Given the description of an element on the screen output the (x, y) to click on. 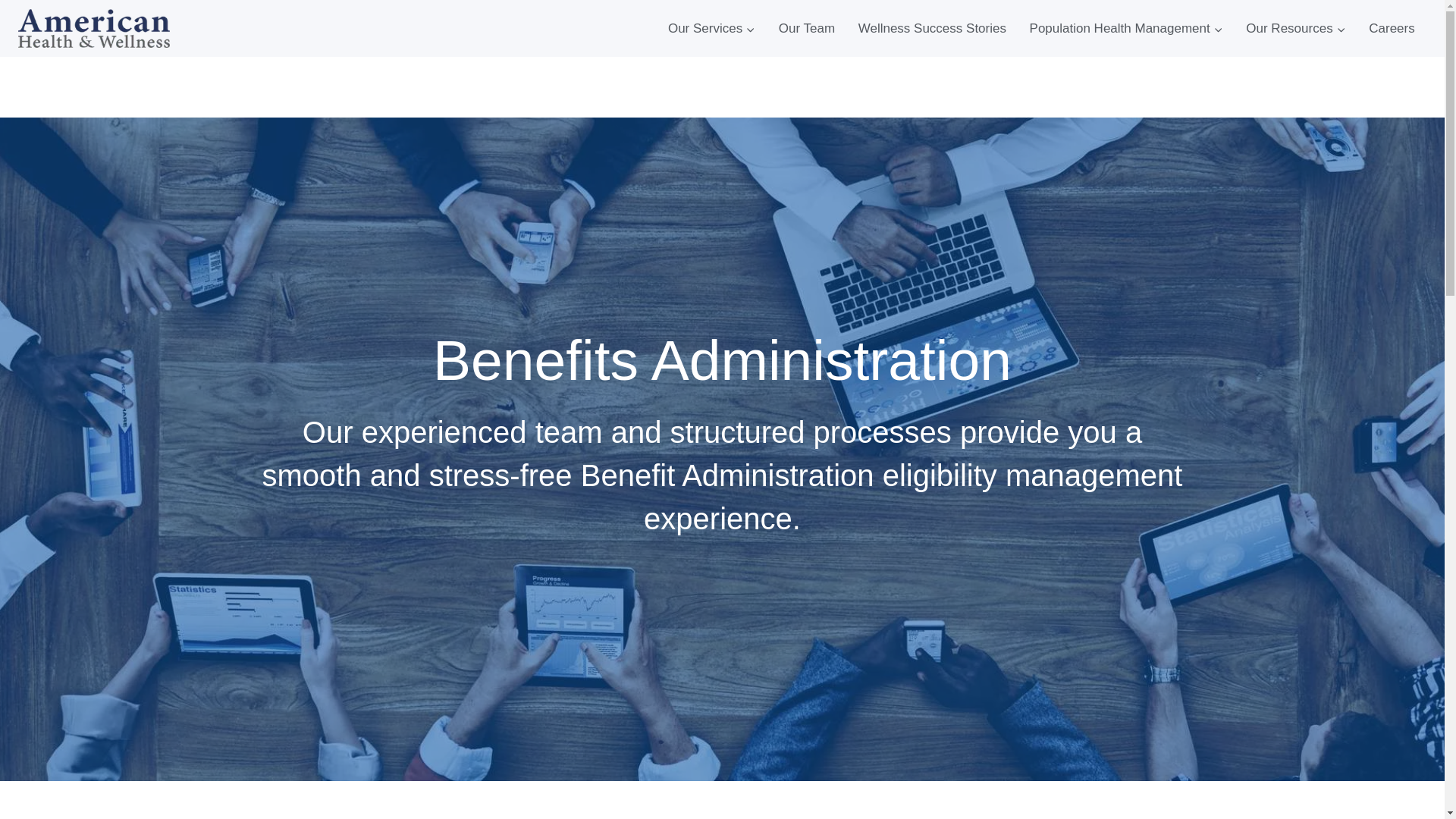
Our Resources (1295, 28)
Population Health Management (1125, 28)
Wellness Success Stories (931, 28)
Careers (1391, 28)
Our Team (806, 28)
Our Services (711, 28)
